Given the description of an element on the screen output the (x, y) to click on. 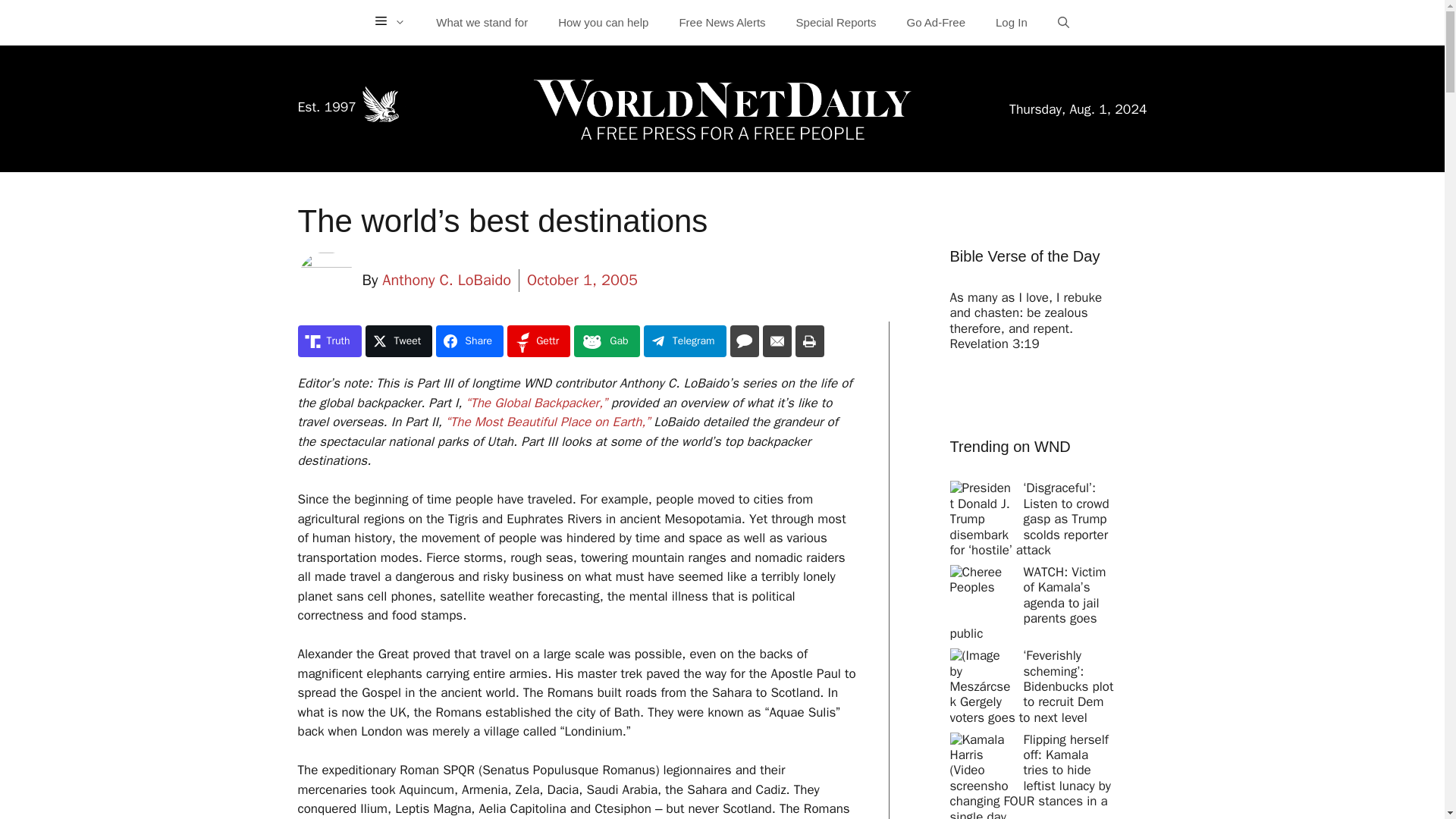
Share on Gettr (538, 341)
Share on Truth (329, 341)
Share on Tweet (398, 341)
Share on Share (469, 341)
Share on Telegram (684, 341)
Share on Gab (606, 341)
